Given the description of an element on the screen output the (x, y) to click on. 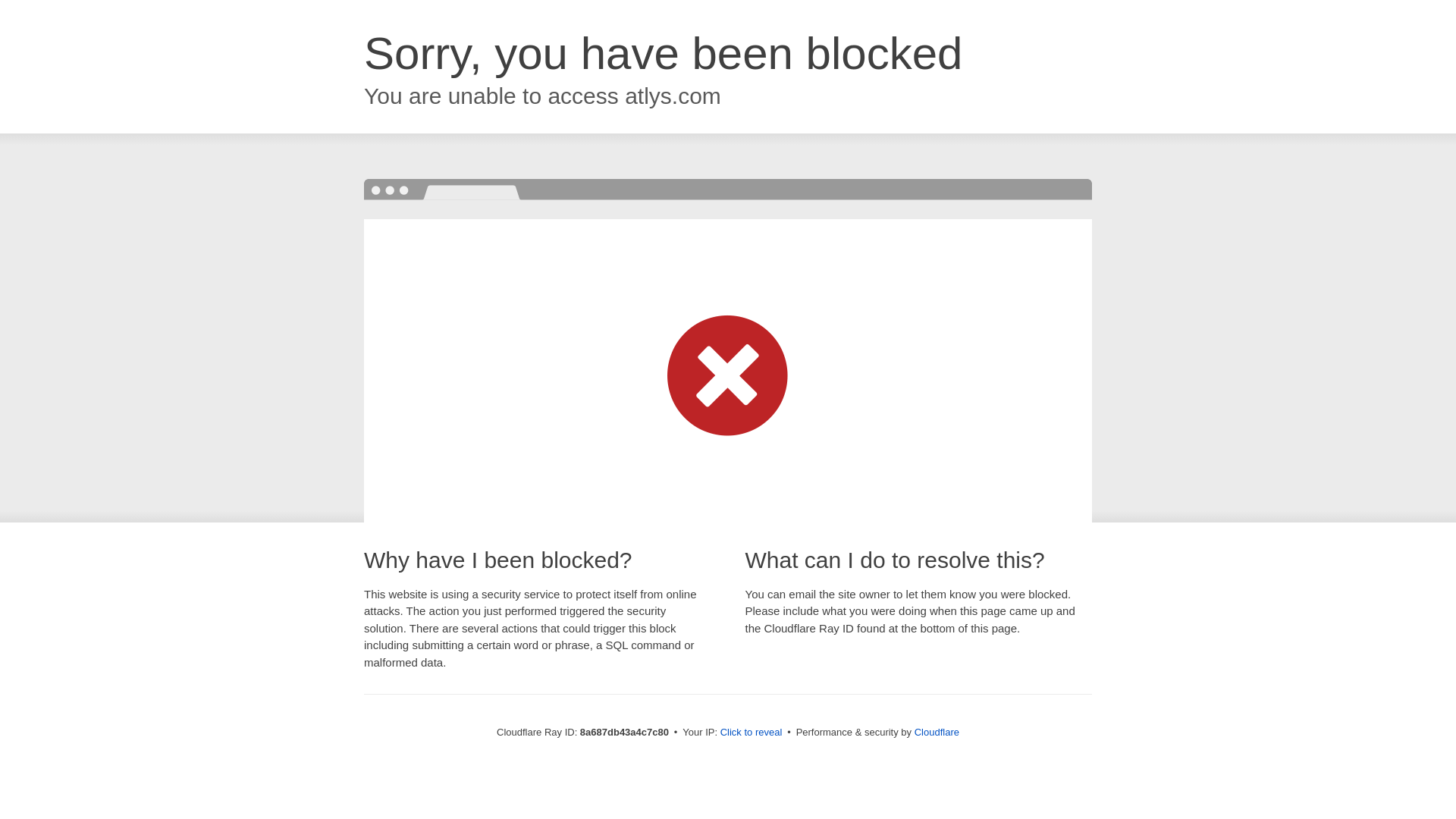
Click to reveal (751, 732)
Cloudflare (936, 731)
